Given the description of an element on the screen output the (x, y) to click on. 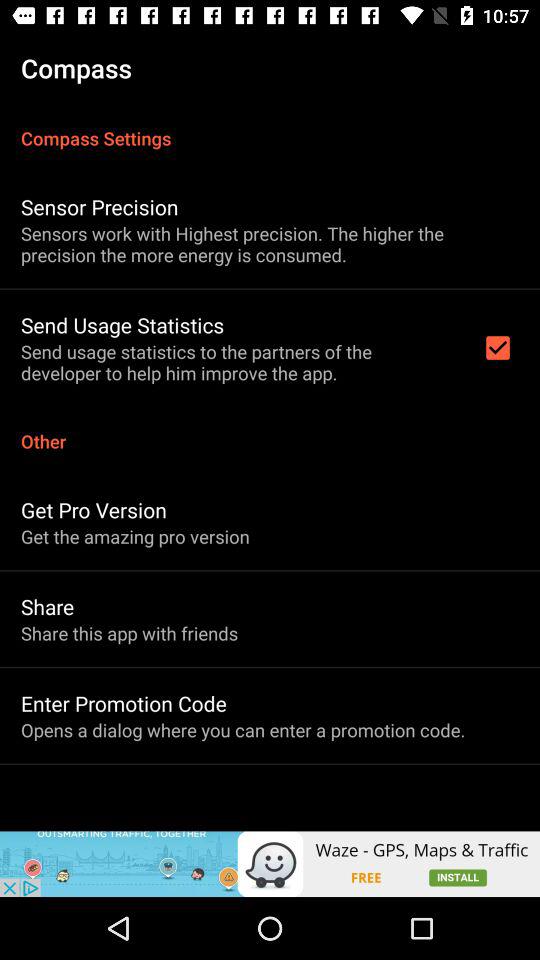
launch the other item (270, 430)
